Given the description of an element on the screen output the (x, y) to click on. 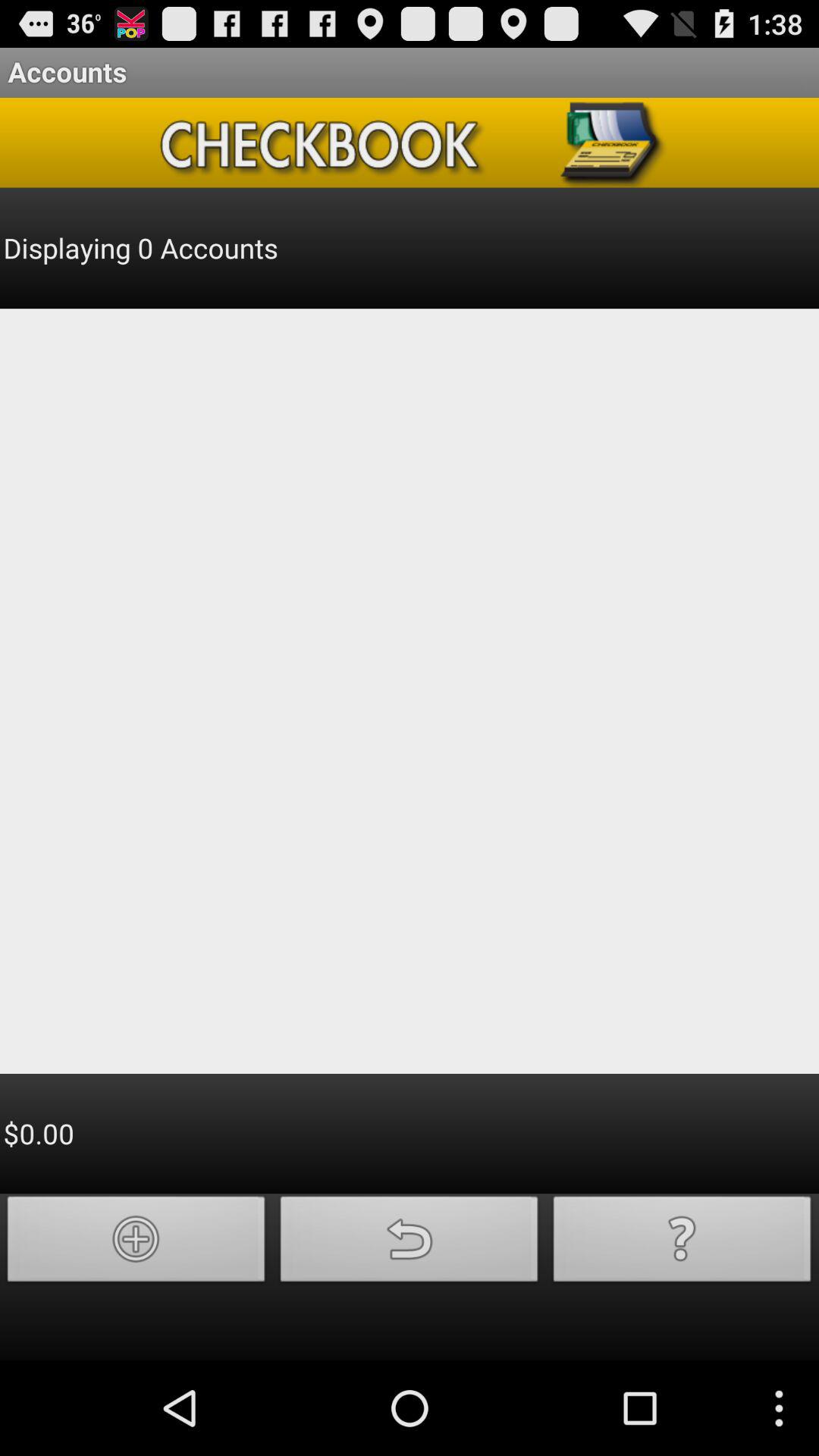
add purchase (136, 1243)
